Given the description of an element on the screen output the (x, y) to click on. 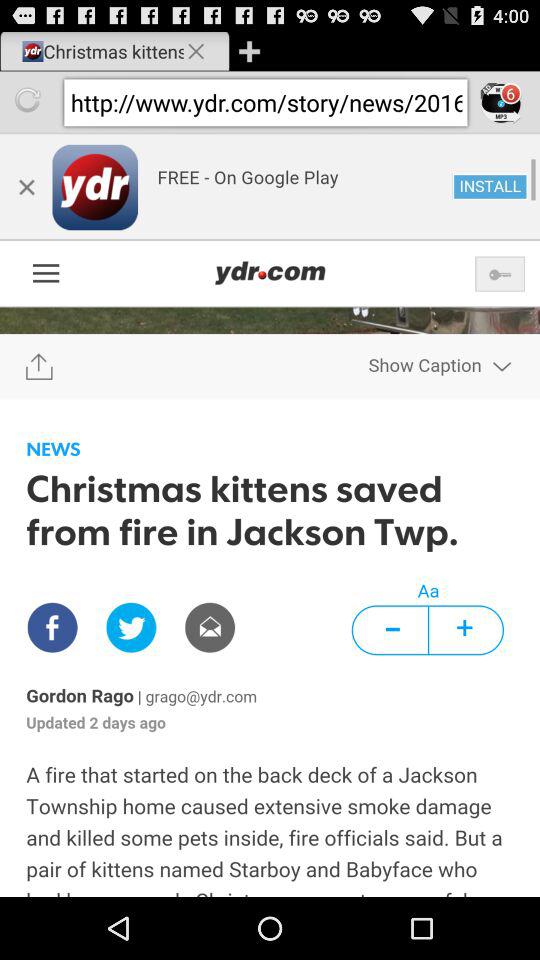
share the article (270, 515)
